Given the description of an element on the screen output the (x, y) to click on. 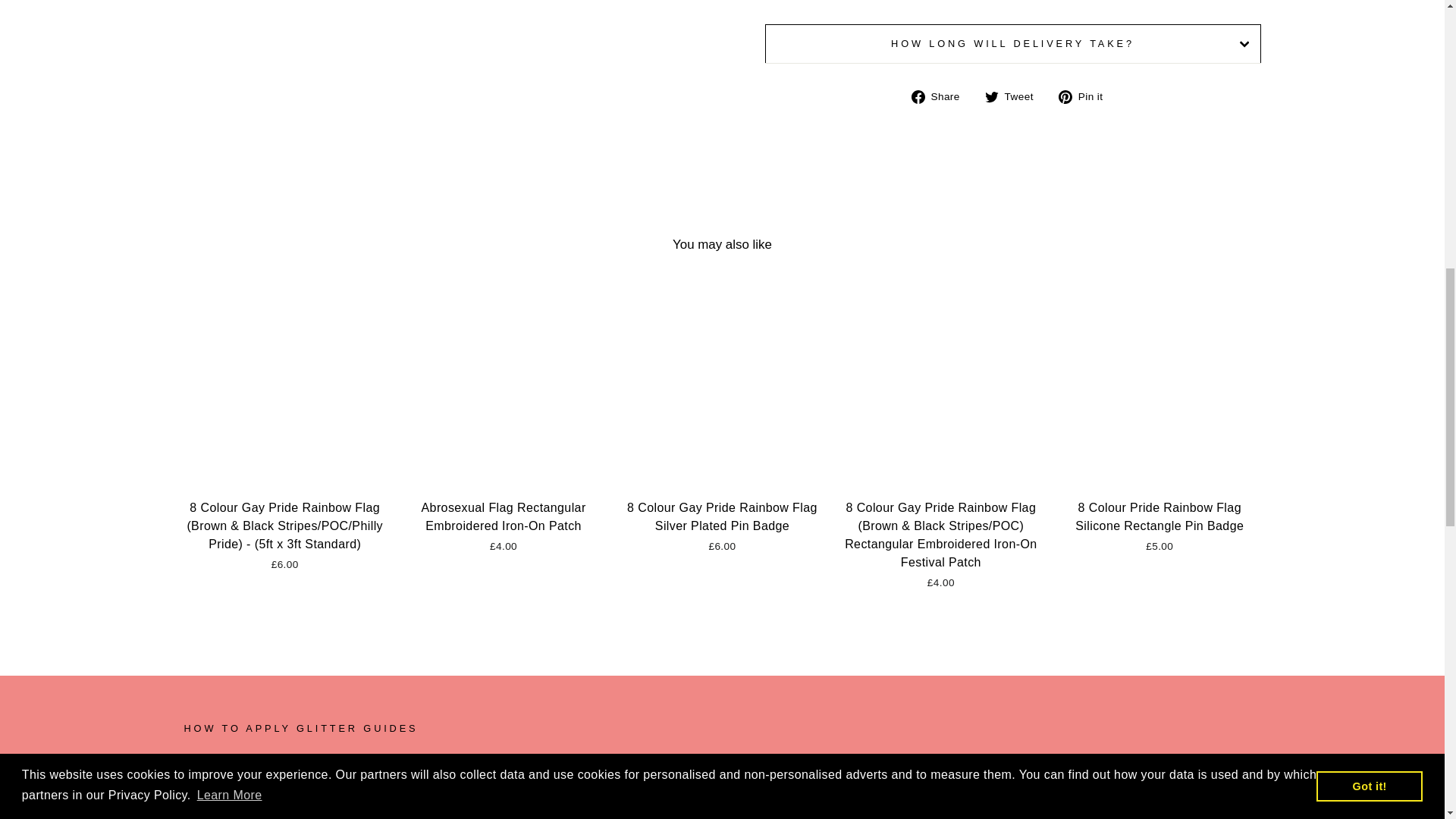
Pin on Pinterest (1085, 96)
Tweet on Twitter (1015, 96)
Share on Facebook (941, 96)
